Given the description of an element on the screen output the (x, y) to click on. 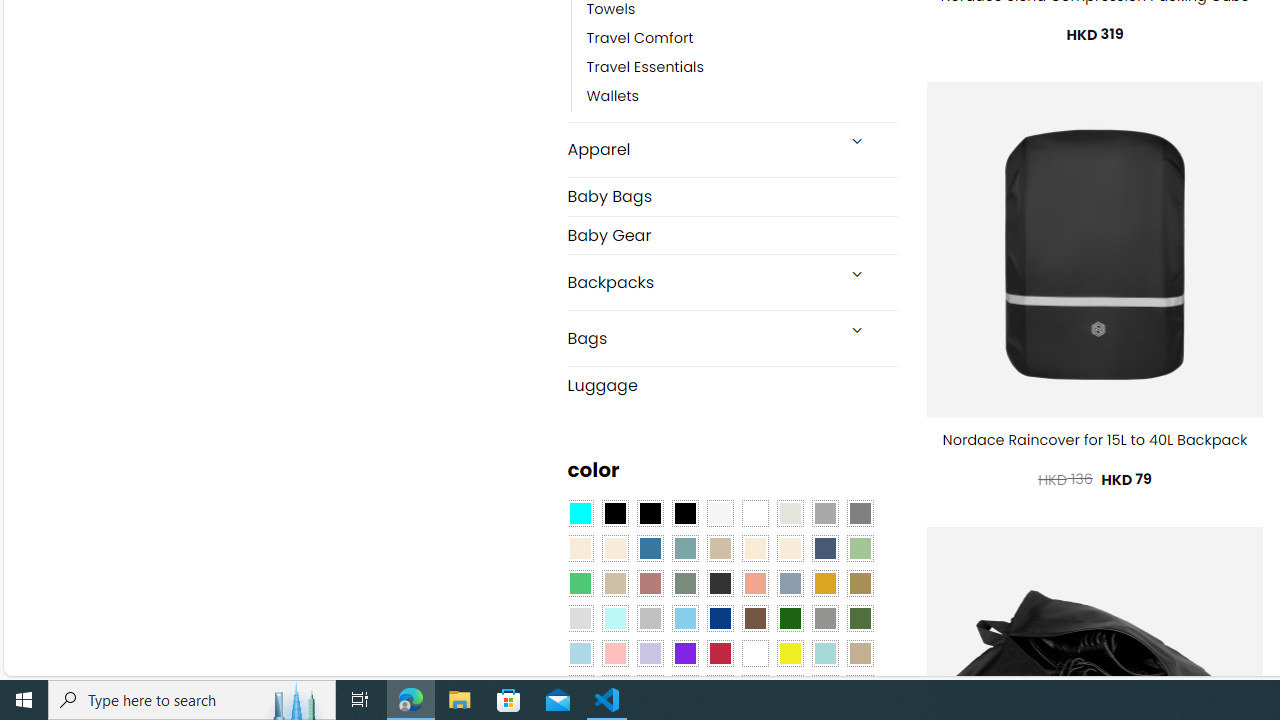
All Gray (859, 514)
Light Purple (650, 653)
Dusty Blue (789, 583)
Sky Blue (684, 619)
Light Green (859, 548)
Gray (824, 619)
Mint (614, 619)
Light Gray (579, 619)
Blue Sage (684, 548)
Black-Brown (684, 514)
Yellow (789, 653)
Aqua Blue (579, 514)
Travel Essentials (742, 67)
Luggage (732, 384)
Khaki (859, 653)
